Given the description of an element on the screen output the (x, y) to click on. 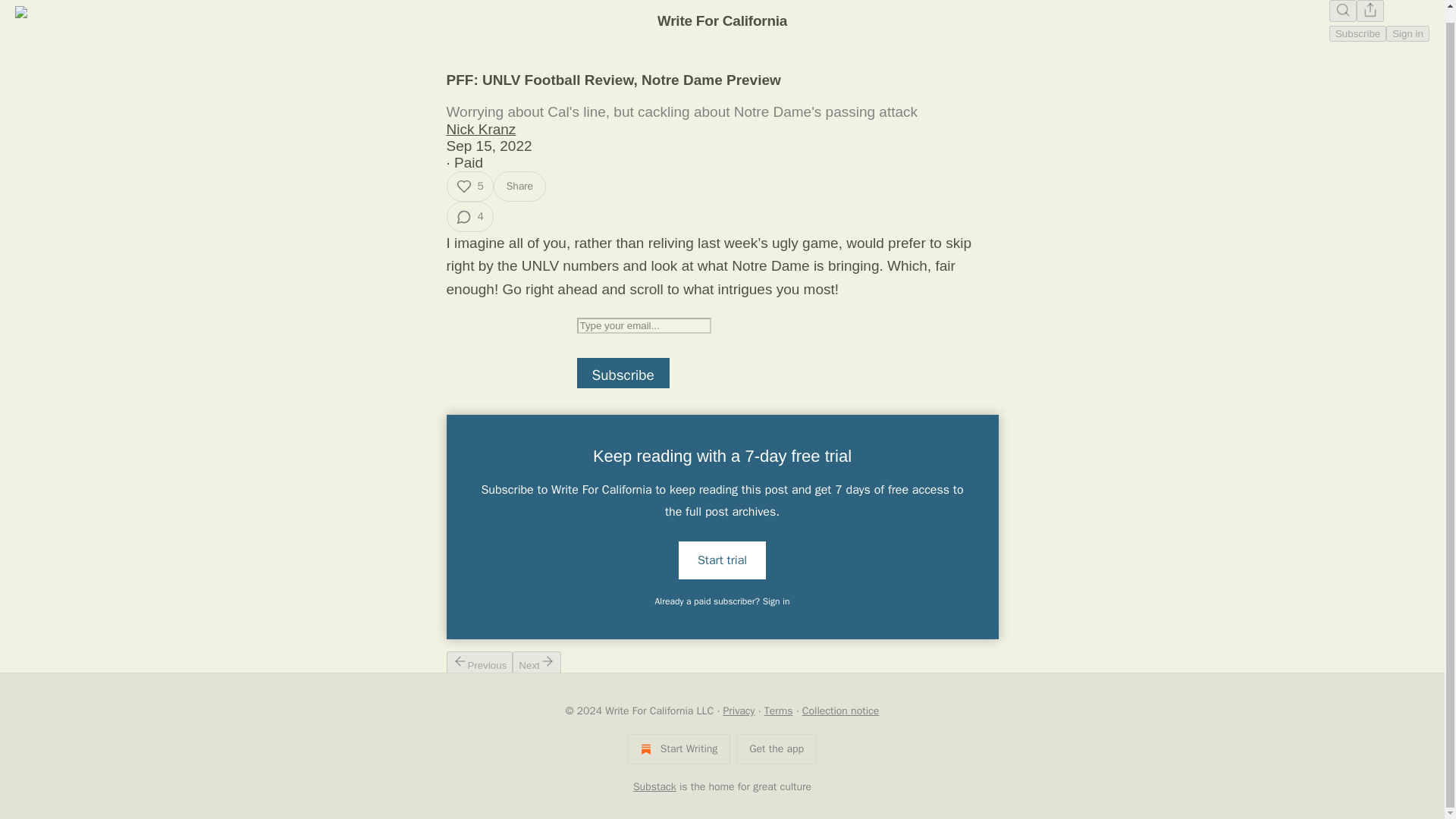
Nick Kranz (480, 129)
Start trial (721, 560)
Privacy (739, 710)
Sign in (1407, 33)
Start Writing (678, 748)
4 (469, 216)
Terms (778, 710)
Share (519, 186)
Previous (478, 662)
Already a paid subscriber? Sign in (722, 601)
